Given the description of an element on the screen output the (x, y) to click on. 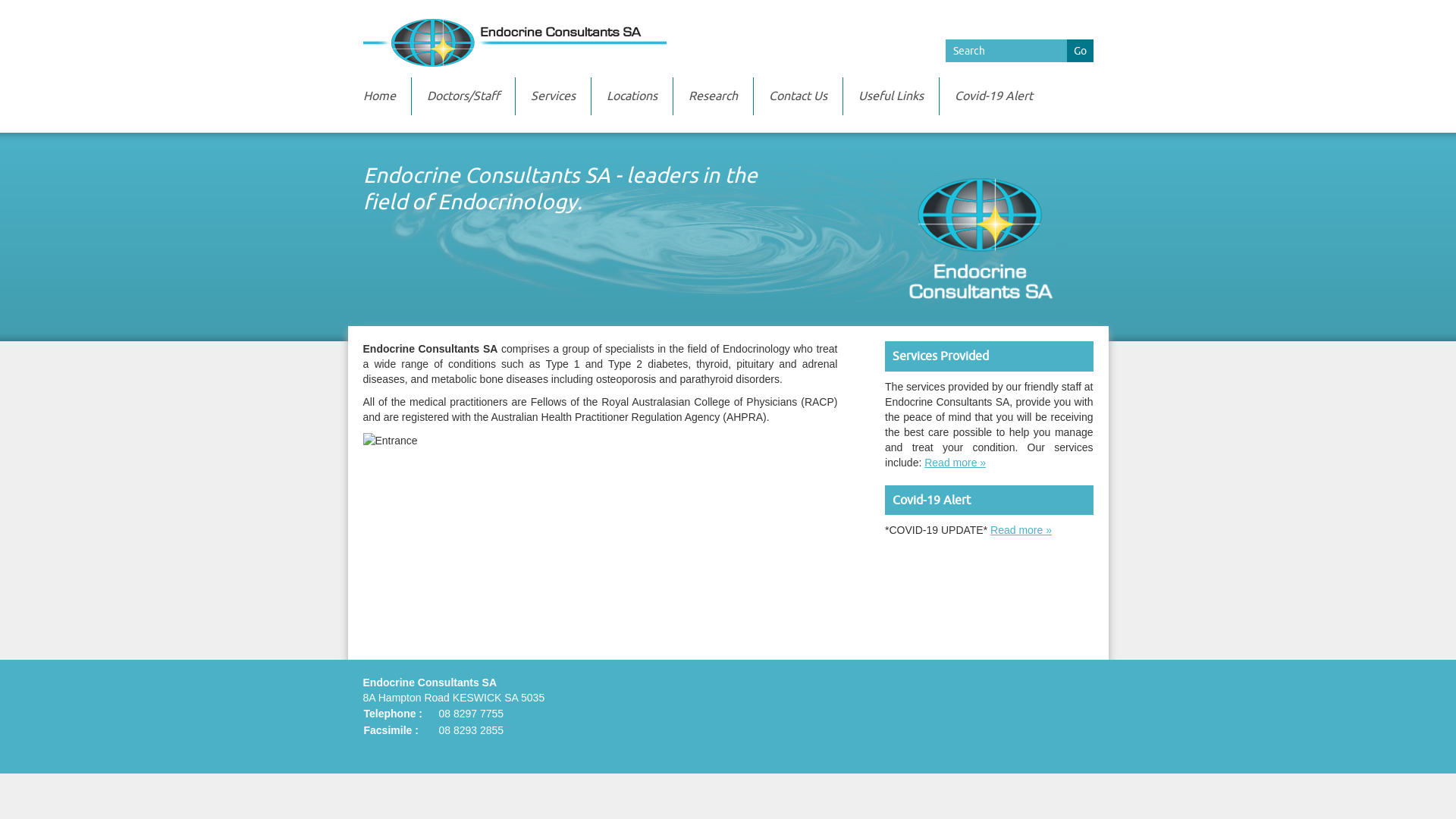
Covid-19 Alert Element type: text (992, 95)
Useful Links Element type: text (890, 95)
Go Element type: text (1079, 50)
Endocrine Consultants Element type: text (727, 42)
Home Element type: text (378, 95)
Services Element type: text (552, 95)
Locations Element type: text (631, 95)
Research Element type: text (712, 95)
Doctors/Staff Element type: text (462, 95)
Contact Us Element type: text (797, 95)
